Given the description of an element on the screen output the (x, y) to click on. 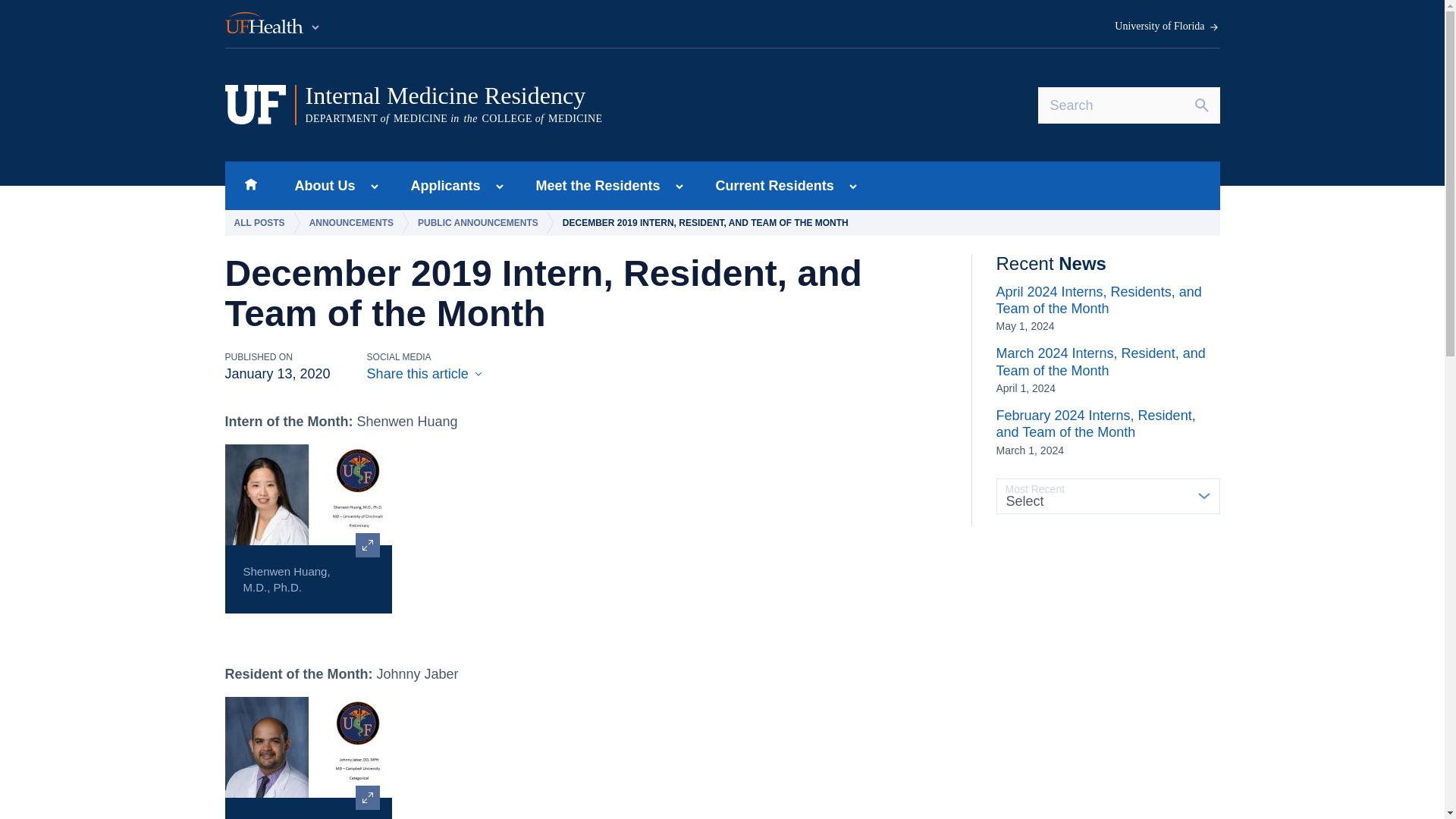
About Us (320, 185)
Applicants (441, 185)
UF Health (272, 24)
University of Florida (1167, 26)
Home (250, 185)
